Given the description of an element on the screen output the (x, y) to click on. 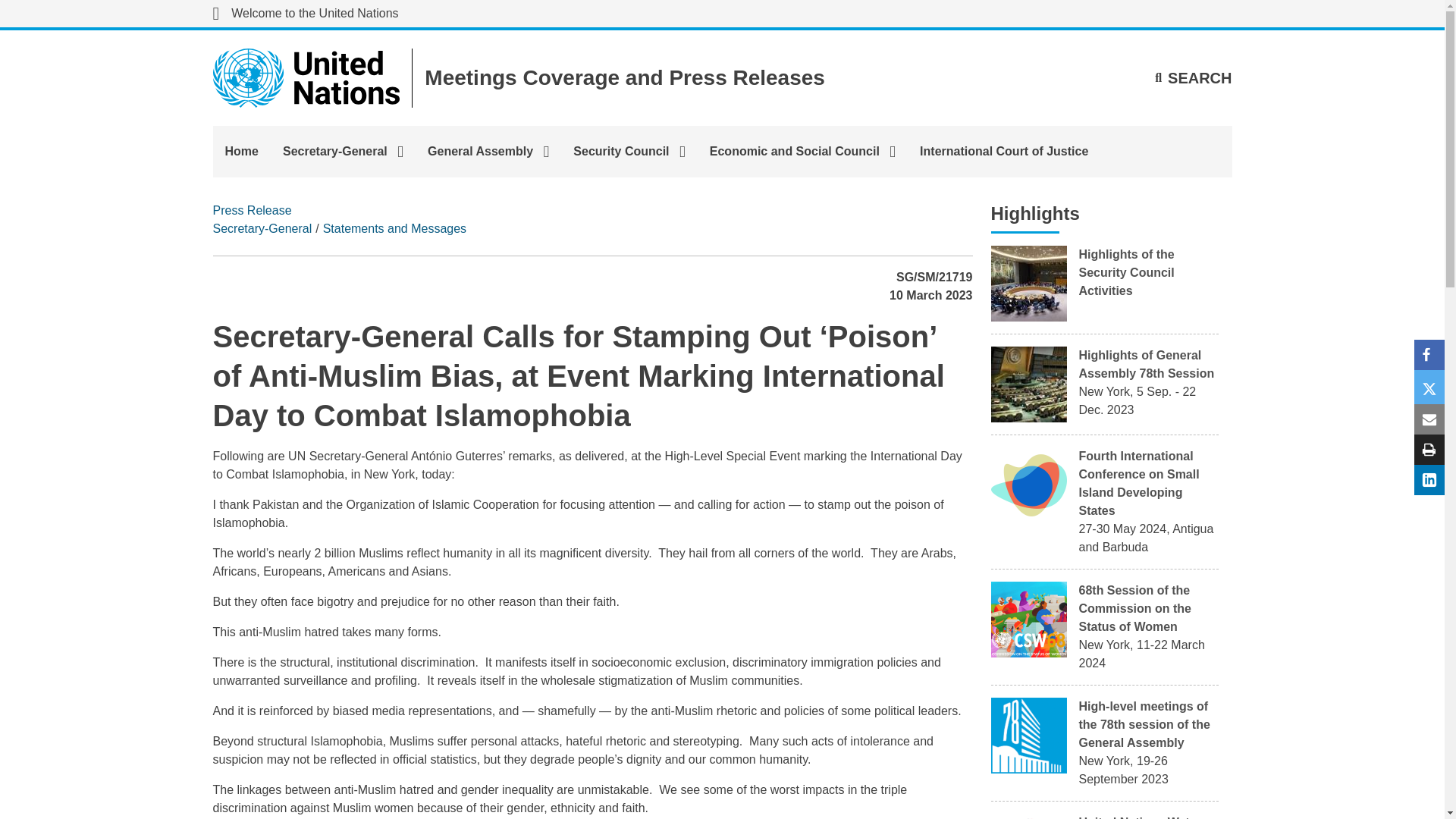
Security Council (628, 151)
Home (240, 151)
Meetings Coverage and Press Releases (625, 77)
Home (240, 151)
Secretary-General (261, 228)
Economic and Social Council (802, 151)
Welcome to the United Nations (304, 13)
Statements and Messages (394, 228)
United Nations (304, 13)
Meetings Coverage and Press Releases (625, 77)
General Assembly (487, 151)
SEARCH (1192, 77)
Press Release (251, 210)
United Nations (305, 76)
Secretary-General (342, 151)
